Given the description of an element on the screen output the (x, y) to click on. 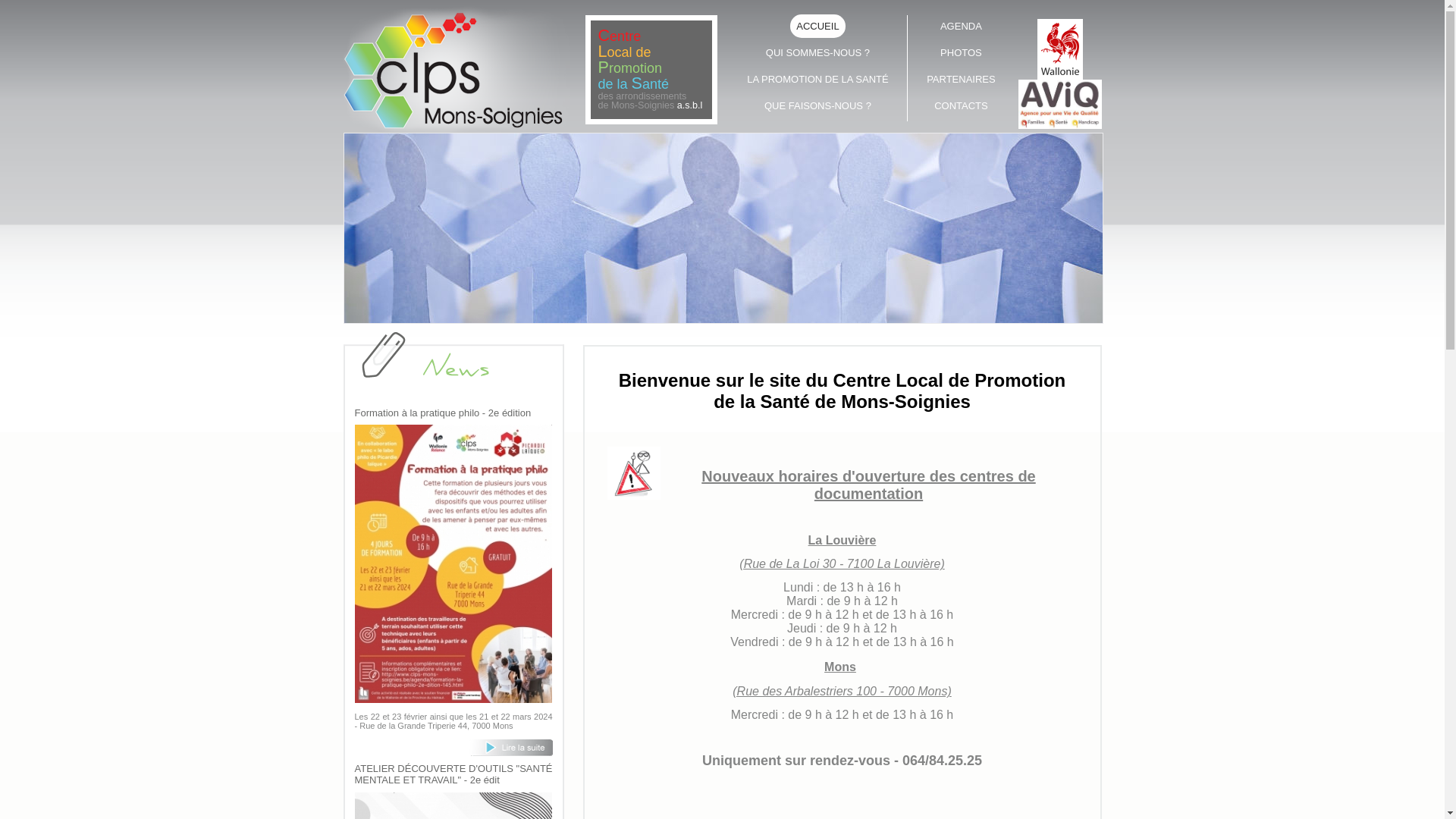
CONTACTS Element type: text (960, 105)
QUE FAISONS-NOUS ? Element type: text (818, 105)
QUI SOMMES-NOUS ? Element type: text (818, 51)
PHOTOS Element type: text (960, 51)
AGENDA Element type: text (960, 25)
ACCUEIL Element type: text (818, 25)
PARTENAIRES Element type: text (960, 78)
